Given the description of an element on the screen output the (x, y) to click on. 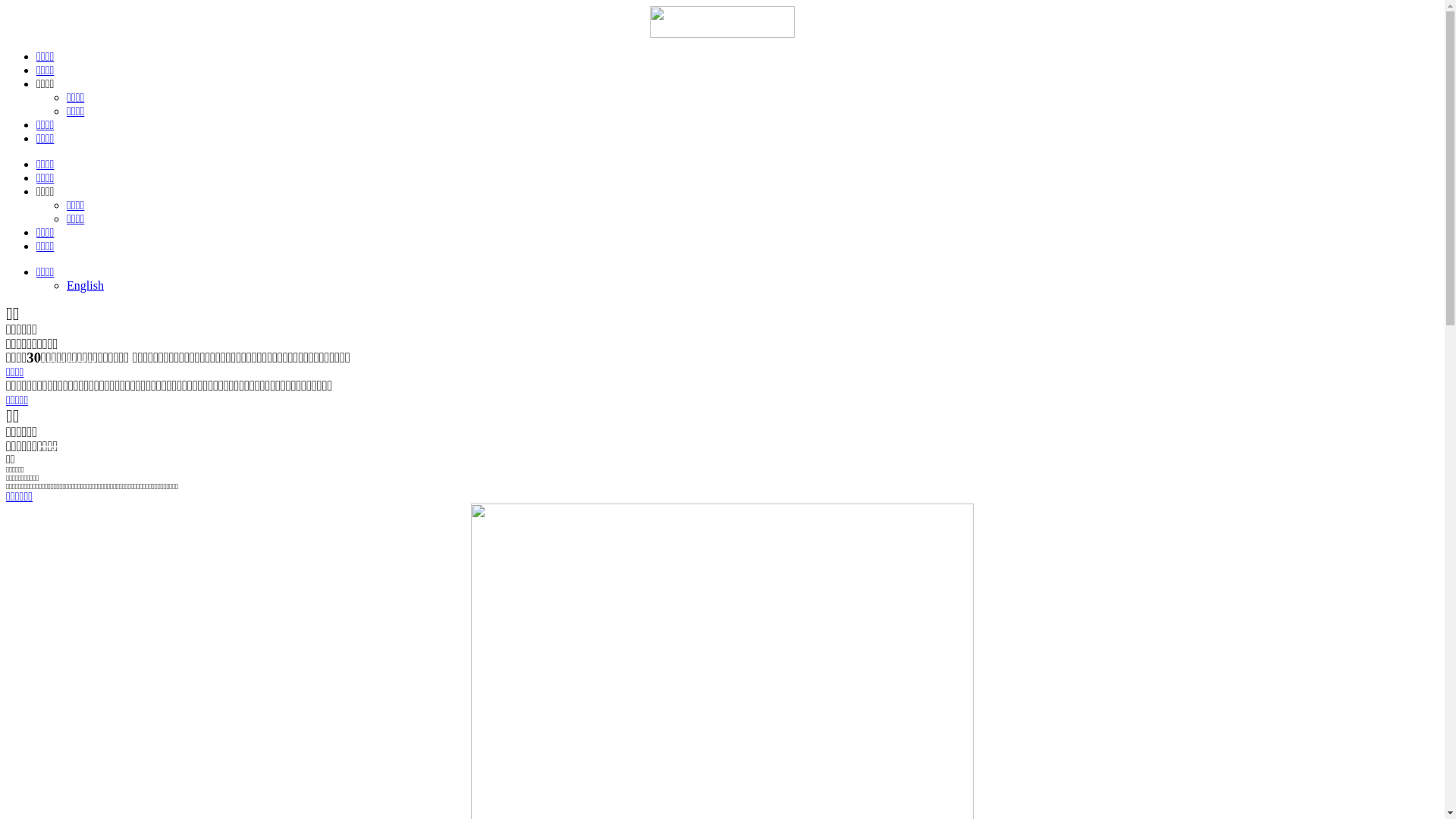
English Element type: text (84, 285)
